Given the description of an element on the screen output the (x, y) to click on. 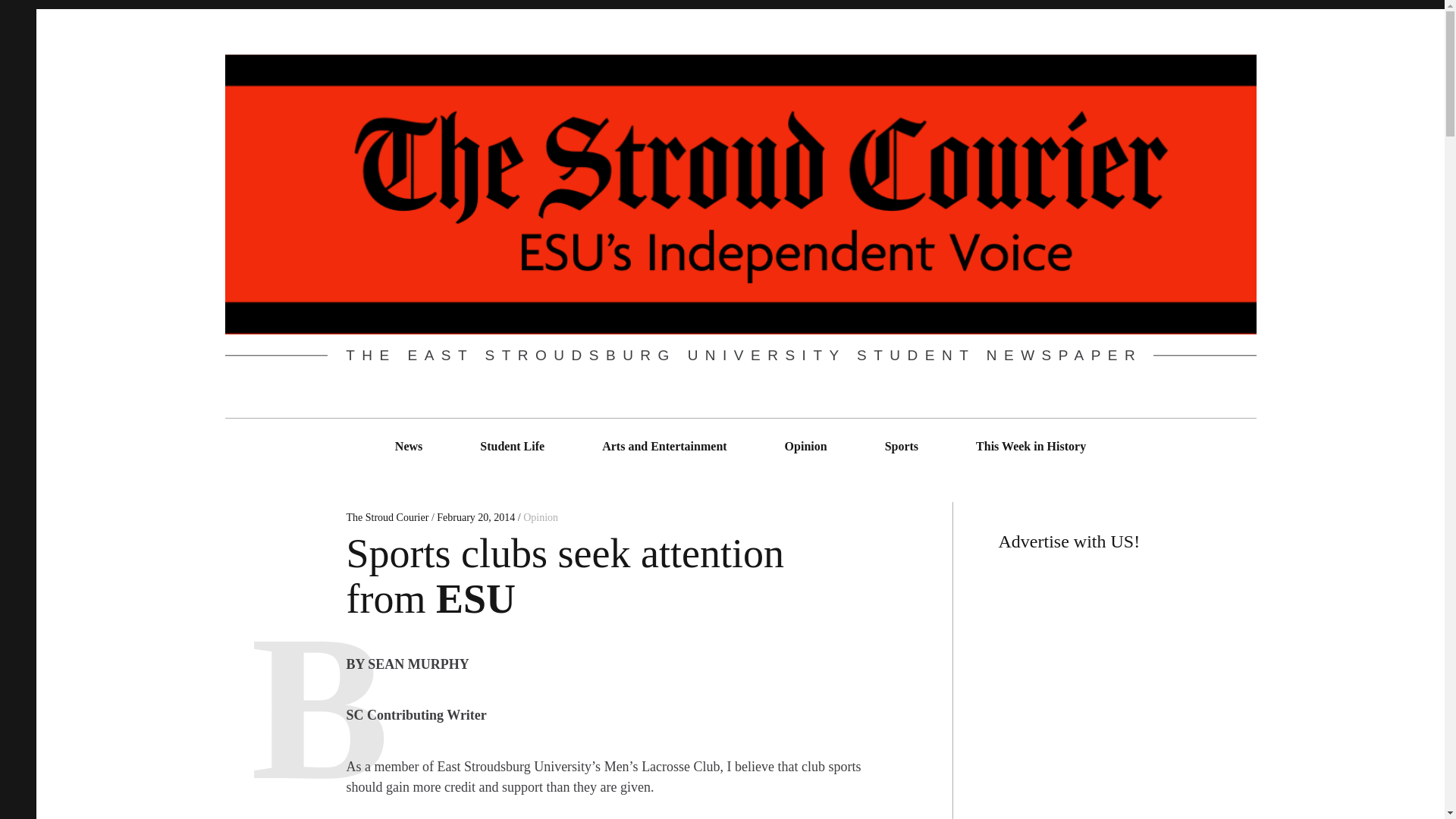
February 20, 2014 (475, 517)
Opinion (805, 446)
This Week in History (1031, 446)
Sports (900, 446)
News (408, 446)
Arts and Entertainment (664, 446)
Opinion (539, 517)
Student Life (512, 446)
The Stroud Courier (388, 517)
